Given the description of an element on the screen output the (x, y) to click on. 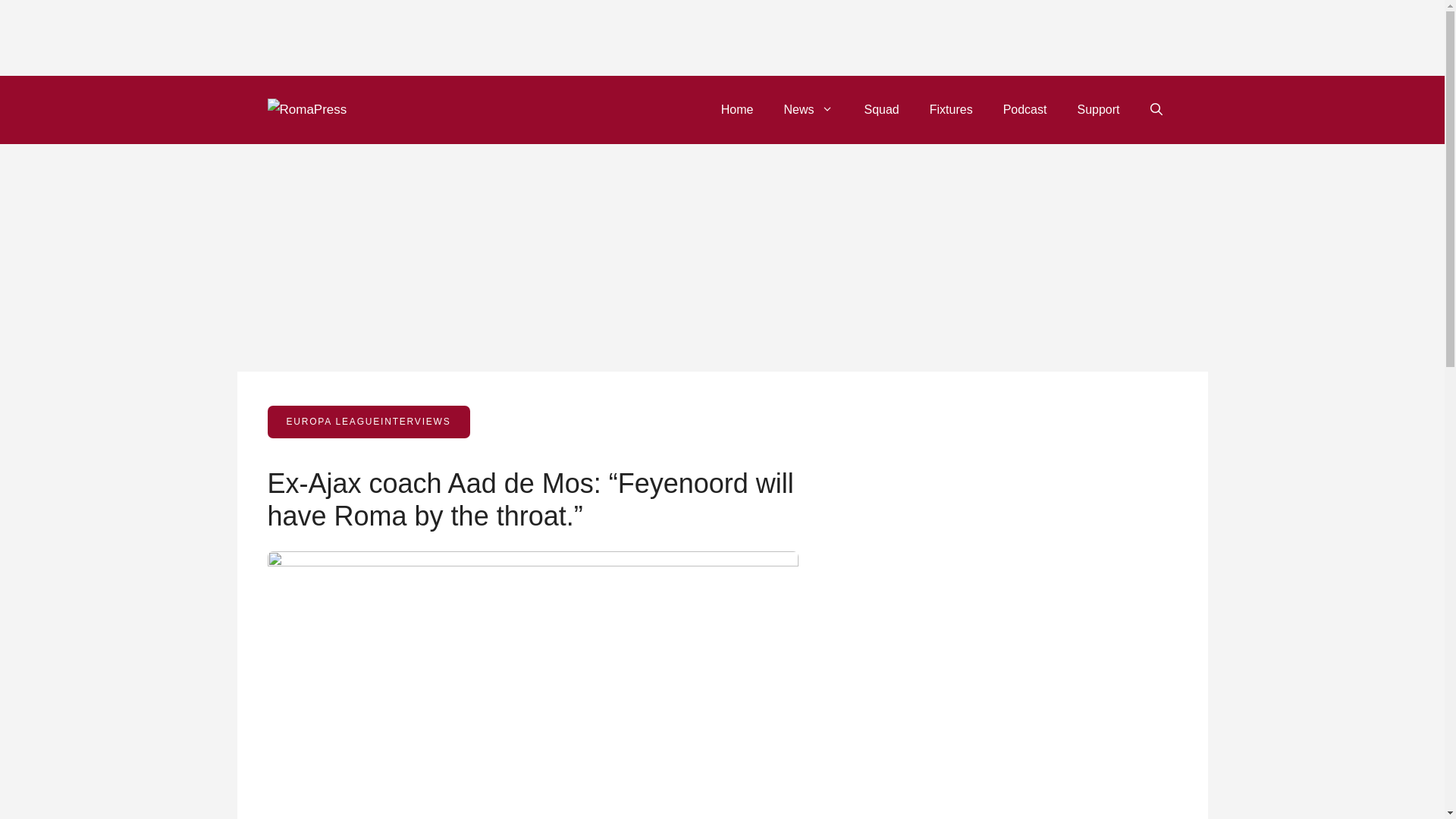
Fixtures (951, 109)
Podcast (1025, 109)
Home (737, 109)
Squad (881, 109)
News (808, 109)
Support (1097, 109)
